Given the description of an element on the screen output the (x, y) to click on. 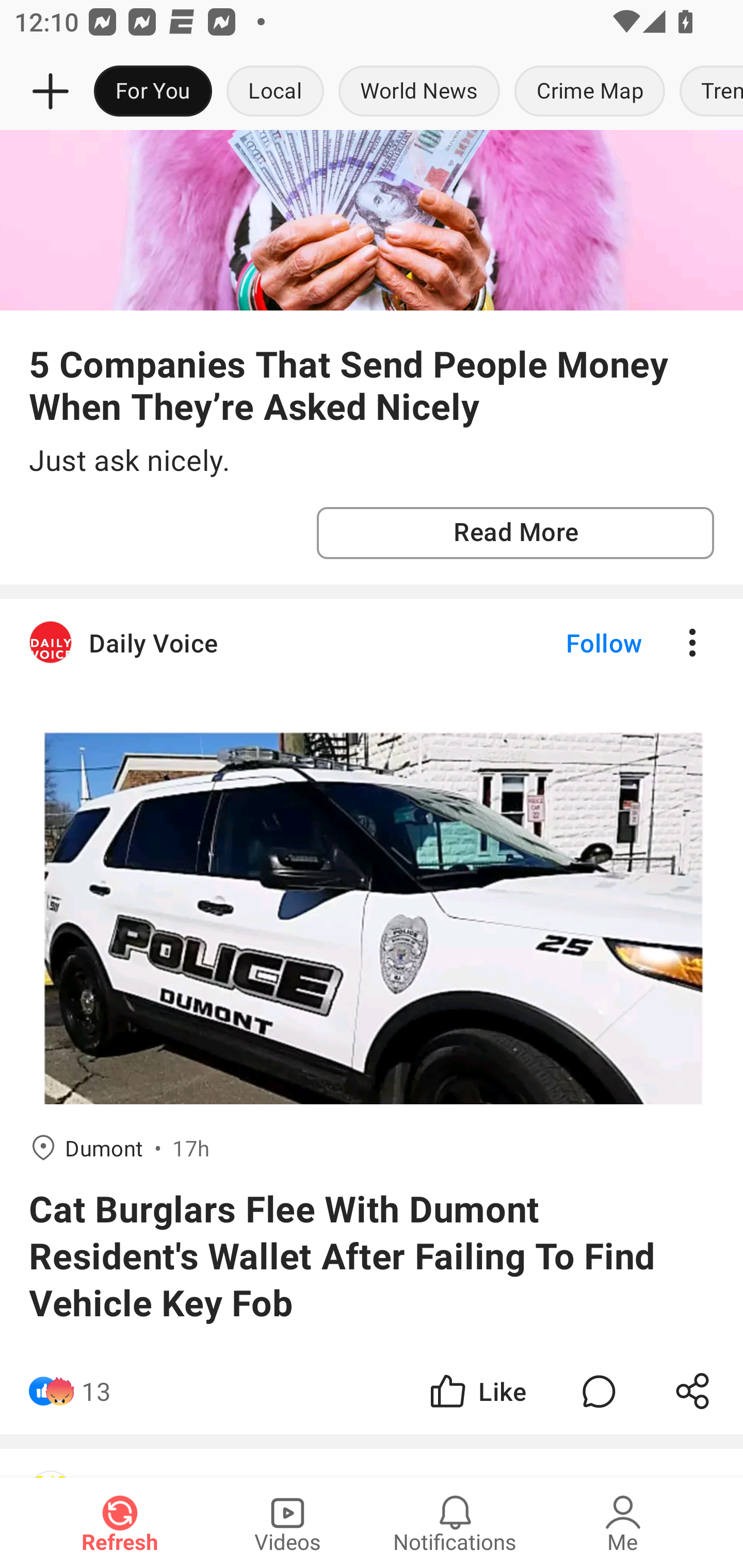
For You (152, 91)
Local (275, 91)
World News (419, 91)
Crime Map (589, 91)
Just ask nicely. (371, 460)
Read More (515, 532)
Daily Voice Follow (371, 642)
Follow (569, 642)
13 (95, 1391)
Like (476, 1391)
Videos (287, 1522)
Notifications (455, 1522)
Me (622, 1522)
